Given the description of an element on the screen output the (x, y) to click on. 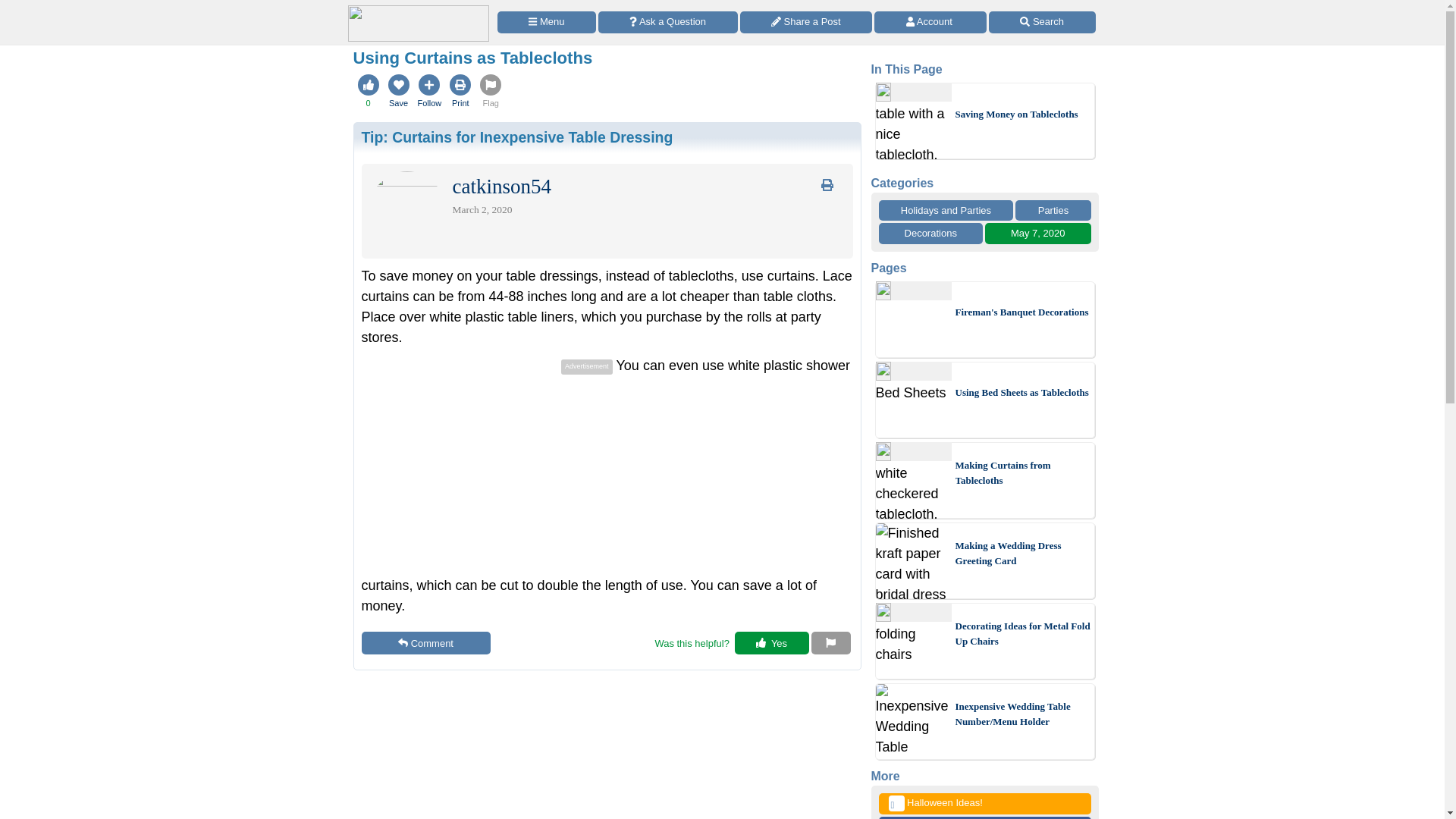
catkinson54 (500, 189)
 Ask a Question (668, 22)
 Menu (546, 22)
 Comment (425, 642)
Tip: Curtains for Inexpensive Table Dressing (516, 136)
